Given the description of an element on the screen output the (x, y) to click on. 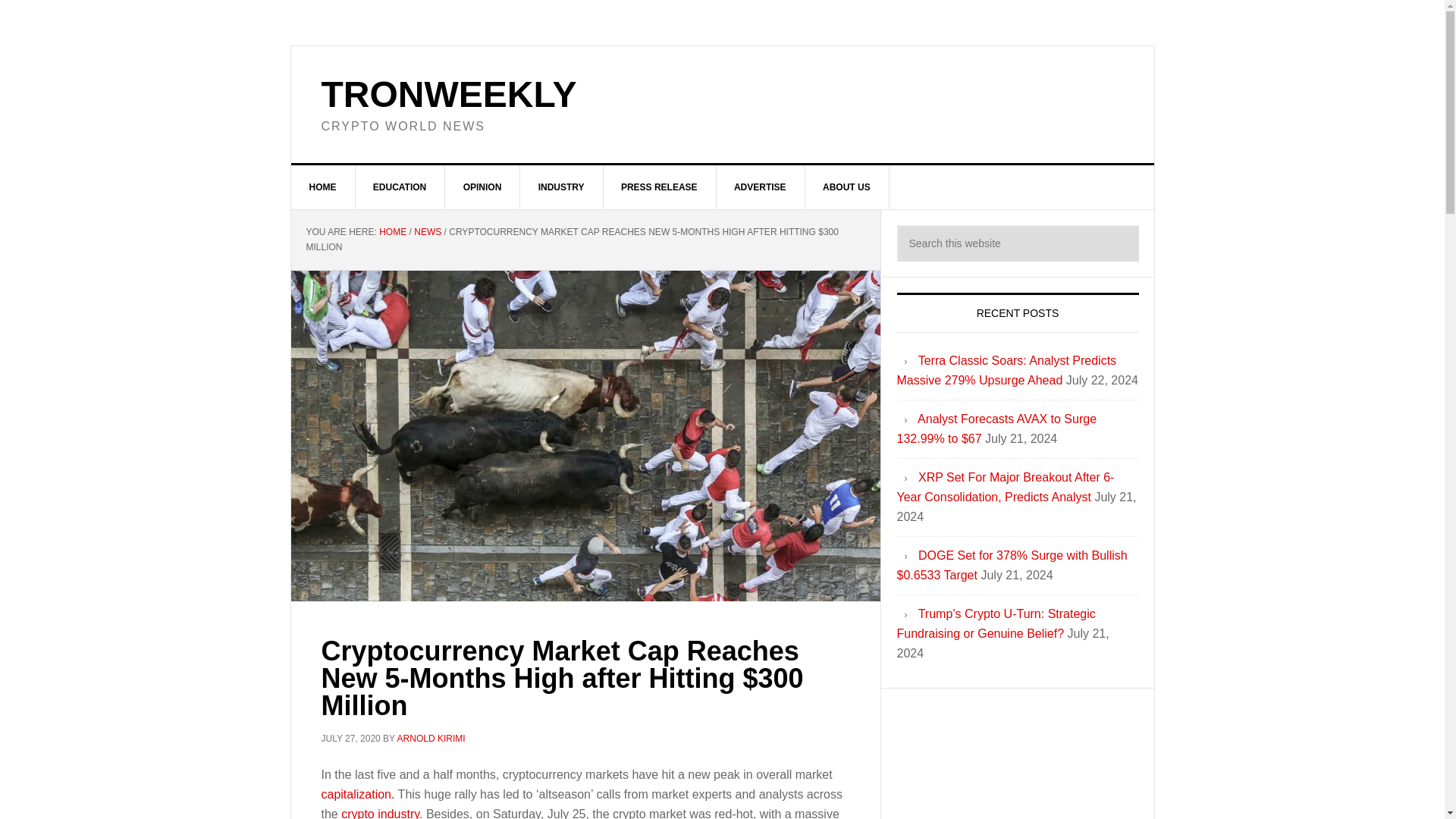
PRESS RELEASE (659, 187)
EDUCATION (400, 187)
ABOUT US (847, 187)
capitalization. (357, 793)
crypto industry (378, 813)
NEWS (427, 231)
HOME (392, 231)
ARNOLD KIRIMI (431, 738)
TRONWEEKLY (448, 94)
ADVERTISE (760, 187)
INDUSTRY (561, 187)
HOME (323, 187)
OPINION (483, 187)
